Given the description of an element on the screen output the (x, y) to click on. 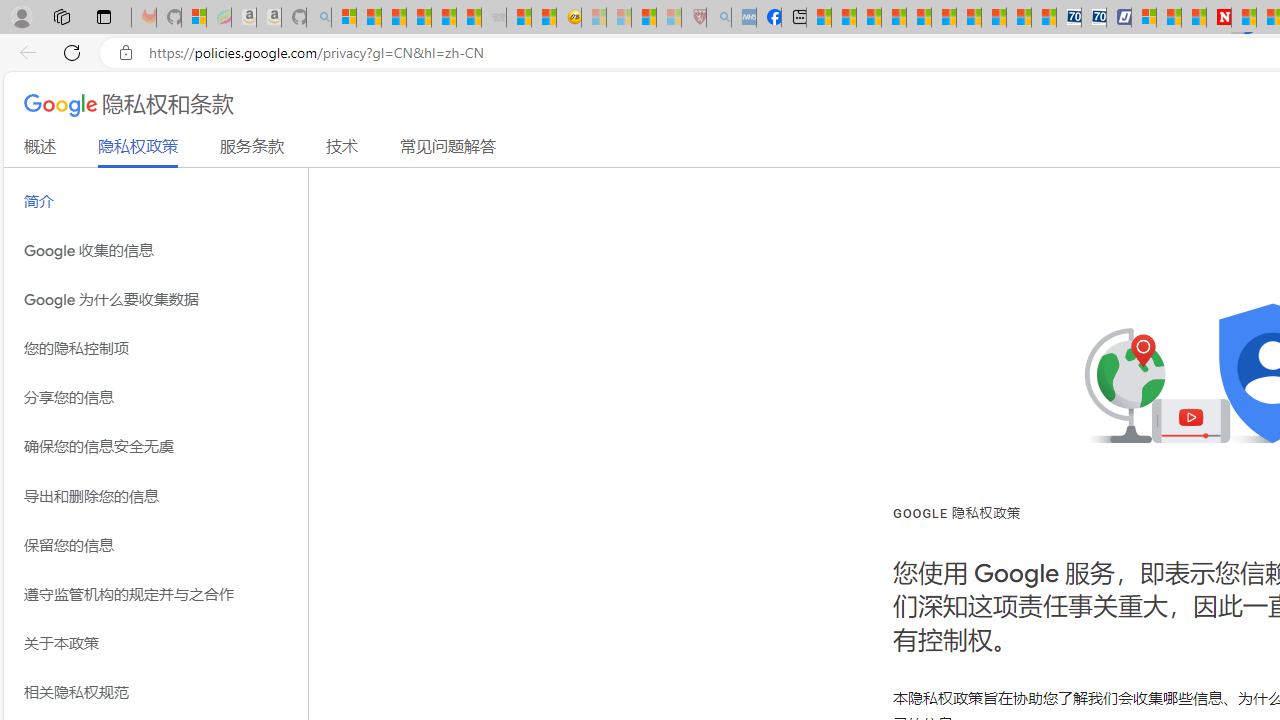
Combat Siege - Sleeping (493, 17)
